Given the description of an element on the screen output the (x, y) to click on. 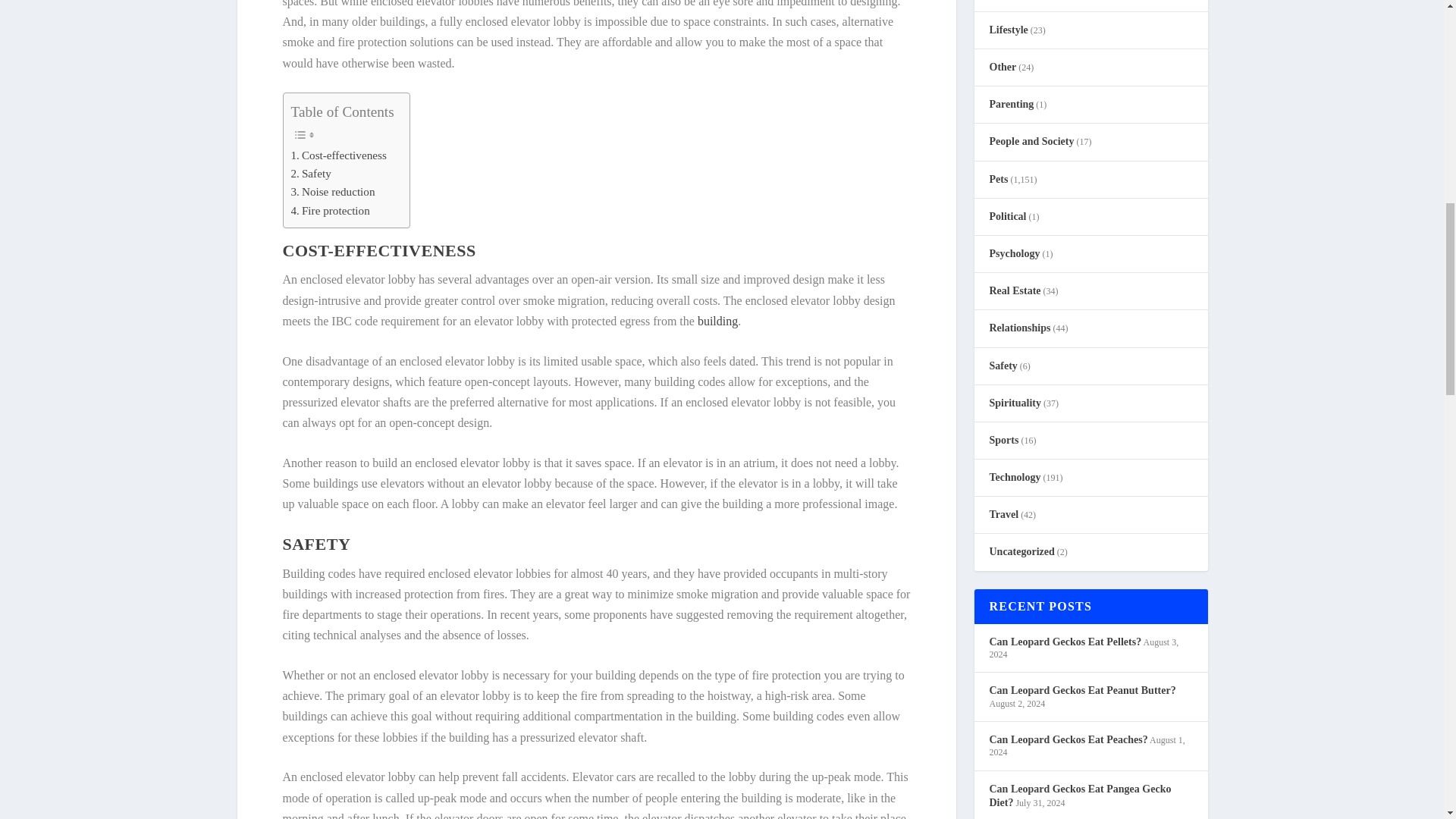
Safety (311, 173)
Fire protection (330, 210)
Cost-effectiveness (339, 155)
Cost-effectiveness (339, 155)
Noise reduction (333, 191)
